Given the description of an element on the screen output the (x, y) to click on. 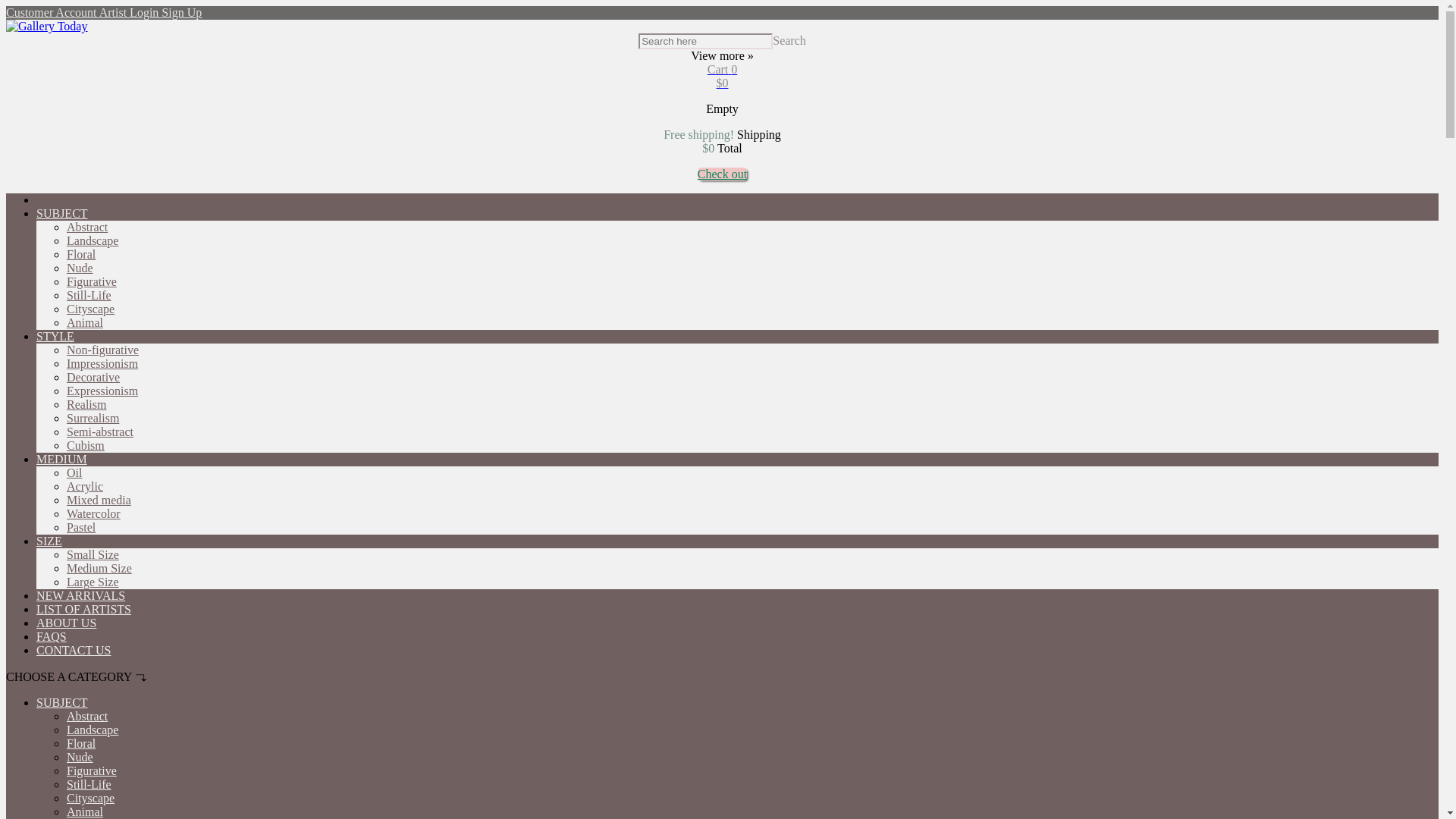
Animal (84, 322)
Small Size (92, 554)
Still-Life (89, 295)
Landscape (91, 240)
Realism (86, 404)
Nude (79, 267)
Abstract (86, 226)
Decorative (92, 377)
Cubism (85, 445)
FAQS (51, 635)
Nude (79, 267)
Style (55, 336)
Pastel (81, 526)
Semi-abstract (99, 431)
Large Size (92, 581)
